Given the description of an element on the screen output the (x, y) to click on. 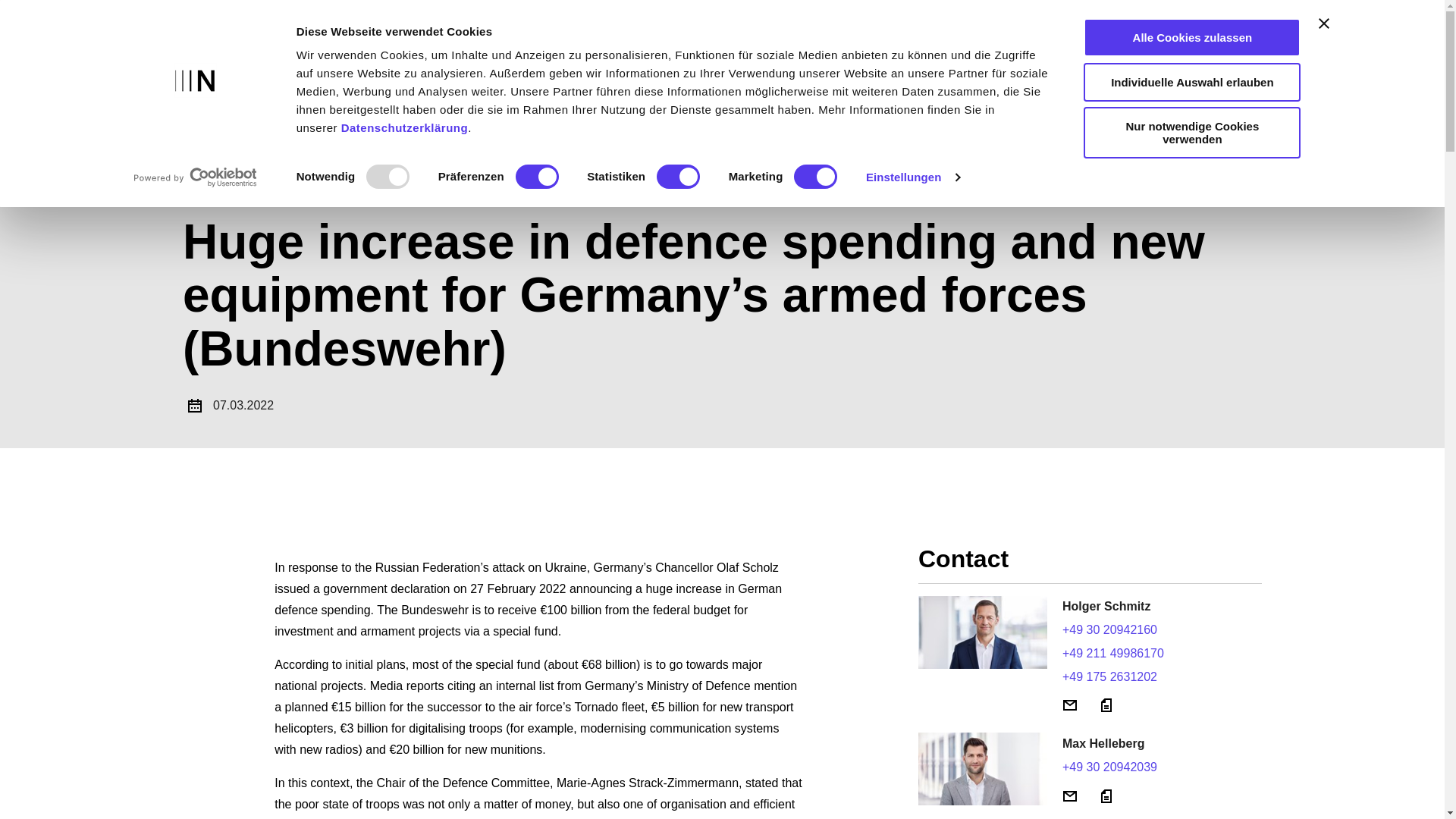
Career (995, 56)
Expertise (790, 56)
Alle Cookies zulassen (1191, 37)
Professionals (896, 56)
Individuelle Auswahl erlauben (1191, 81)
Einstellungen (912, 177)
Insights (702, 56)
Nur notwendige Cookies verwenden (1191, 132)
About us (1079, 56)
